Given the description of an element on the screen output the (x, y) to click on. 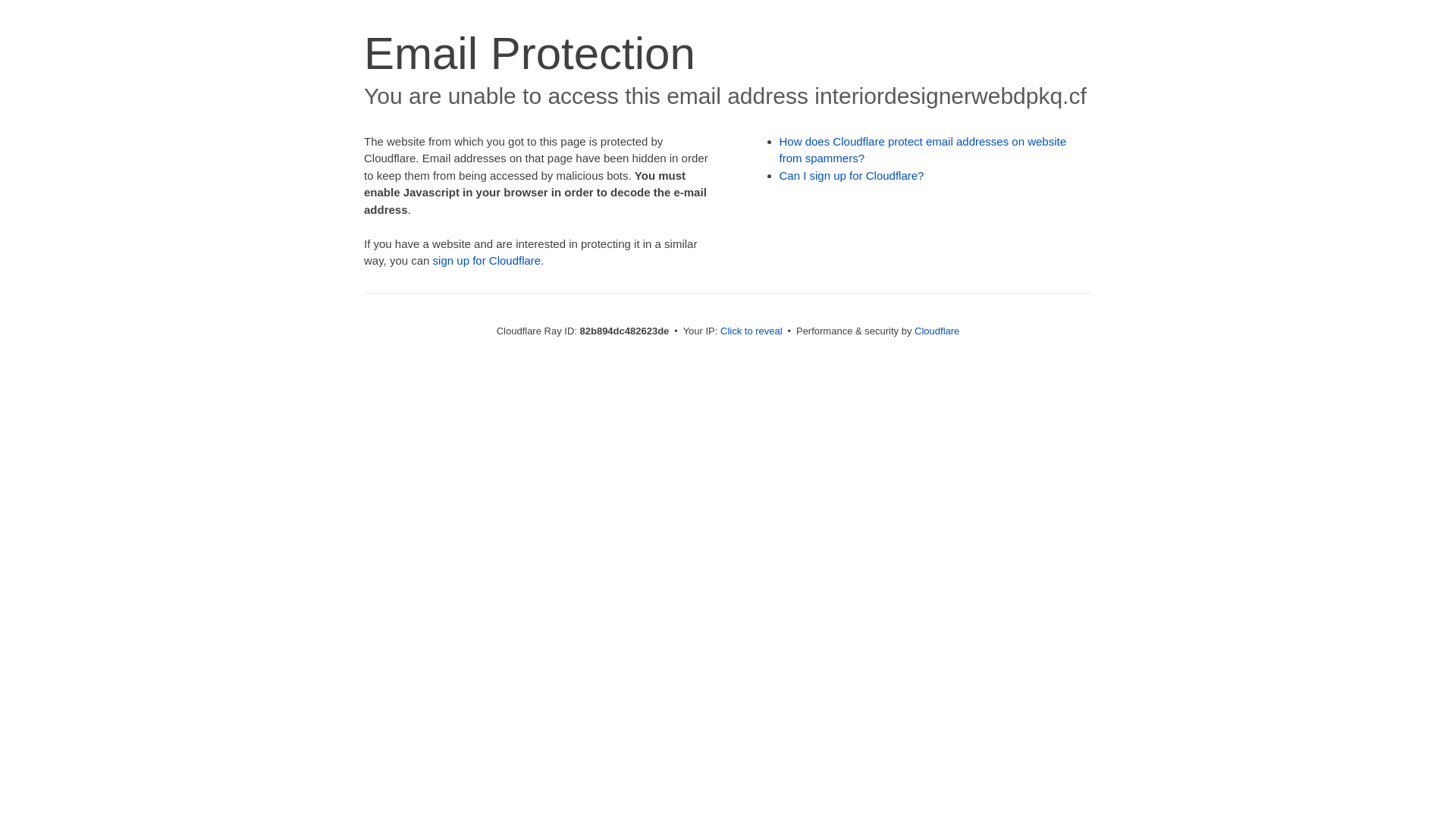
Click to reveal Element type: text (751, 330)
Cloudflare Element type: text (936, 330)
sign up for Cloudflare Element type: text (487, 260)
Can I sign up for Cloudflare? Element type: text (851, 175)
